Given the description of an element on the screen output the (x, y) to click on. 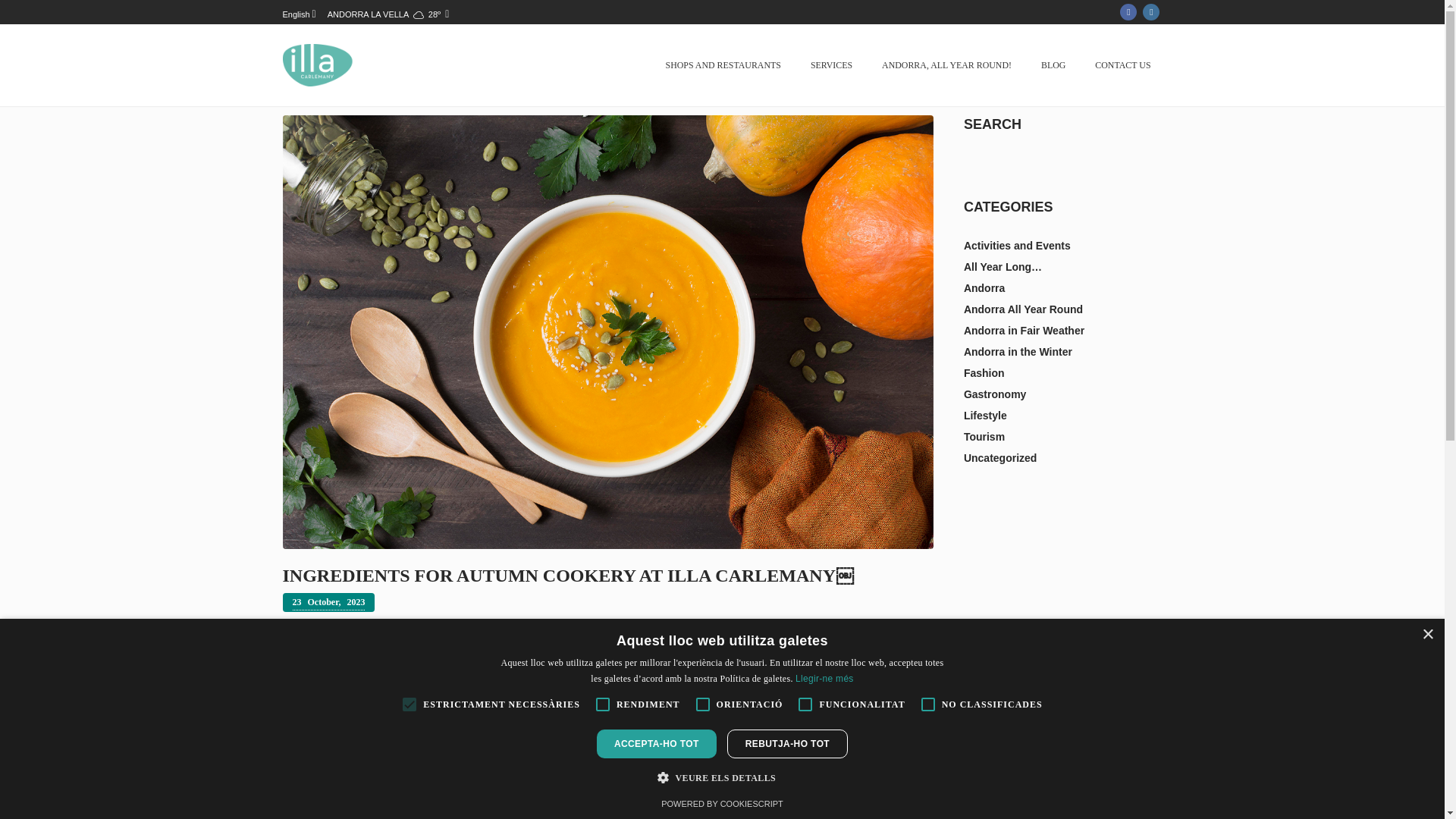
Andorra in Fair Weather (1023, 330)
23 October, 2023 (328, 602)
Instagram (1150, 12)
Andorra All Year Round (1023, 309)
Activities and Events (1016, 245)
aprabo (802, 740)
SHOPS AND RESTAURANTS (722, 65)
CONTACT US (1122, 65)
Andorra in the Winter (1017, 351)
English (300, 13)
Andorra (983, 287)
SERVICES (831, 65)
Fashion (983, 372)
Facebook (1128, 12)
ANDORRA, ALL YEAR ROUND! (946, 65)
